Given the description of an element on the screen output the (x, y) to click on. 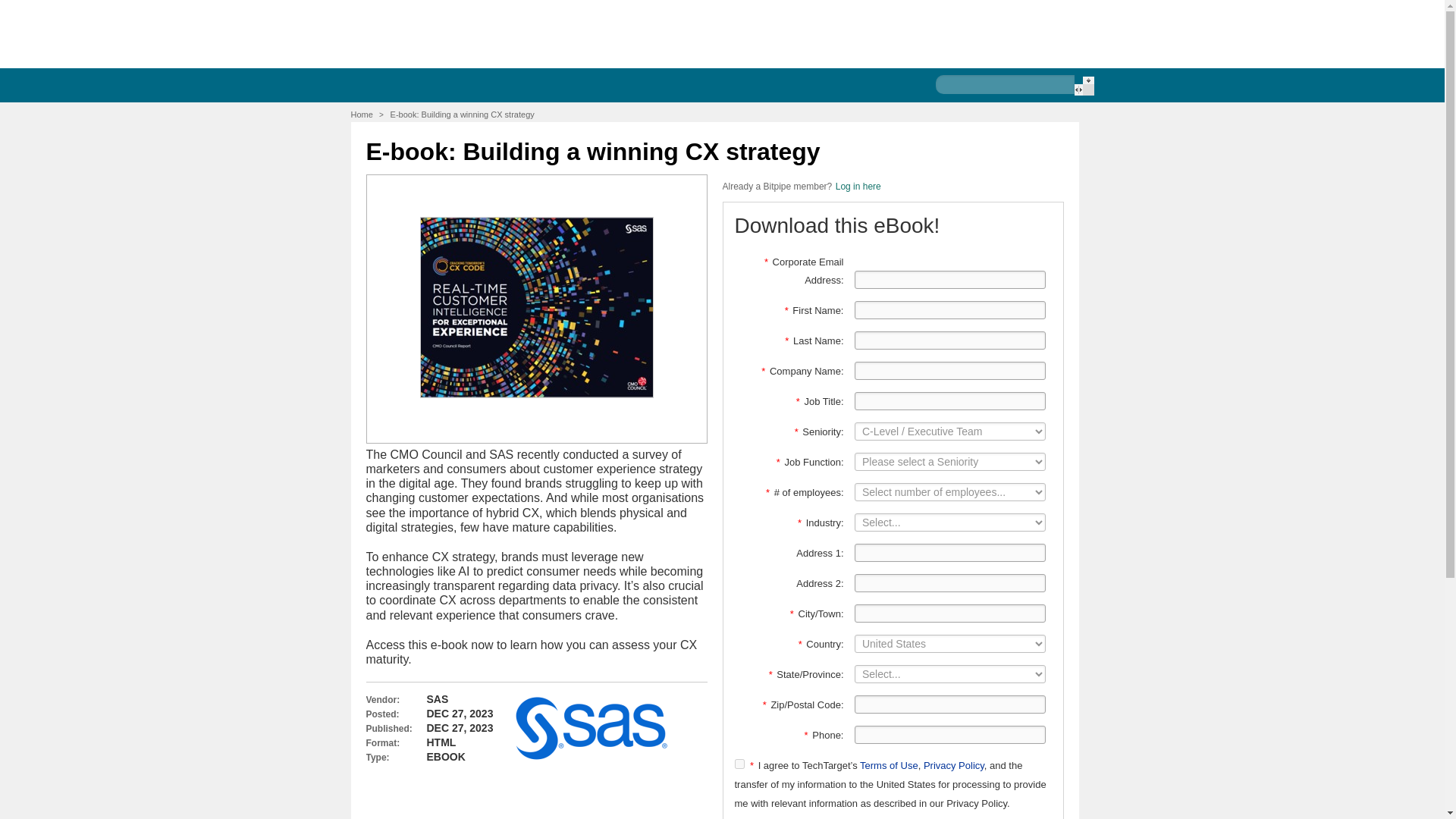
Bitpipe (439, 32)
Privacy Policy (953, 765)
true (738, 764)
Search (1083, 85)
Log in here (857, 185)
Search (1083, 85)
Home (361, 113)
Terms of Use (889, 765)
